Given the description of an element on the screen output the (x, y) to click on. 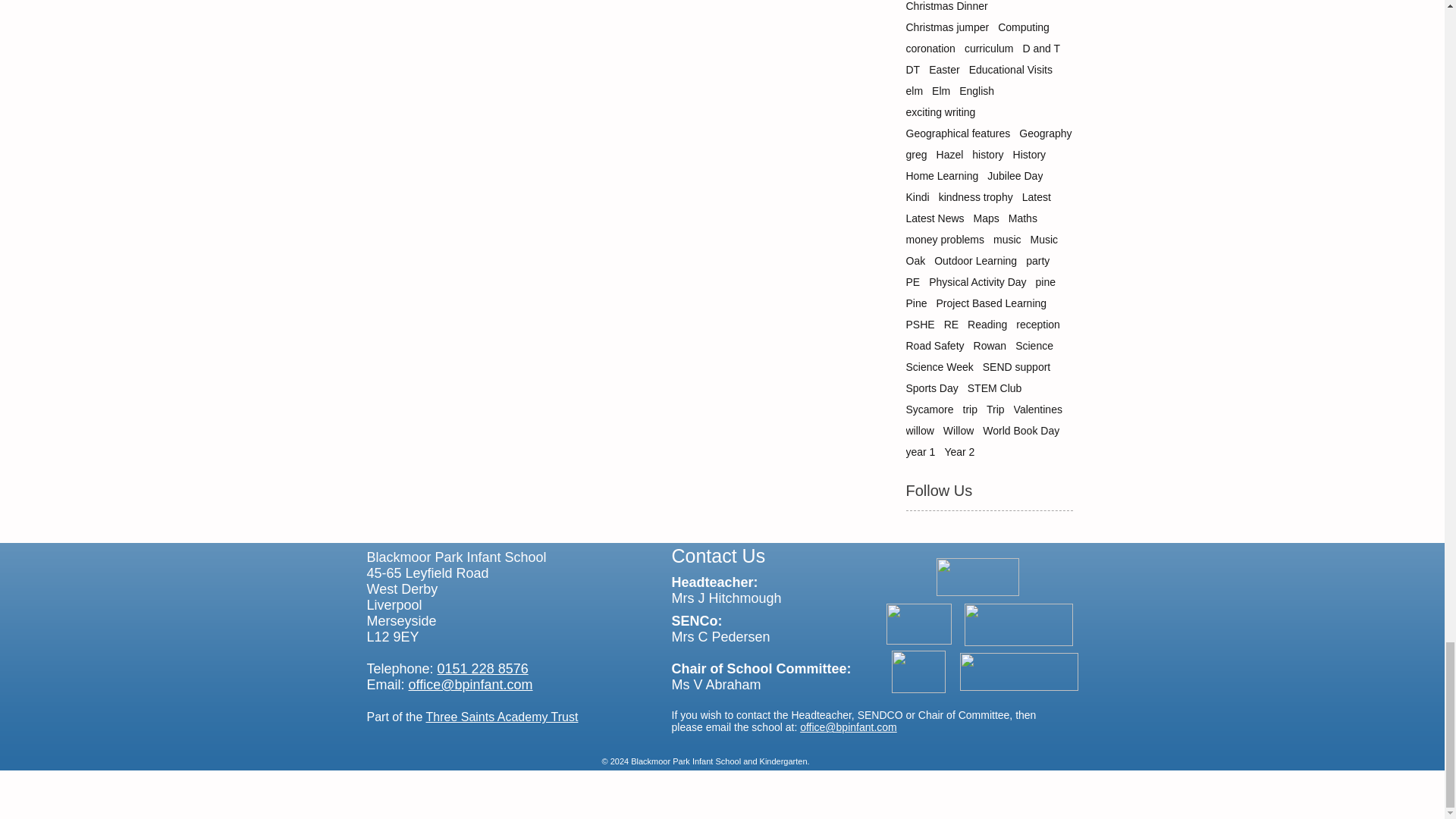
terror.png (976, 576)
tuk.png (917, 671)
